Given the description of an element on the screen output the (x, y) to click on. 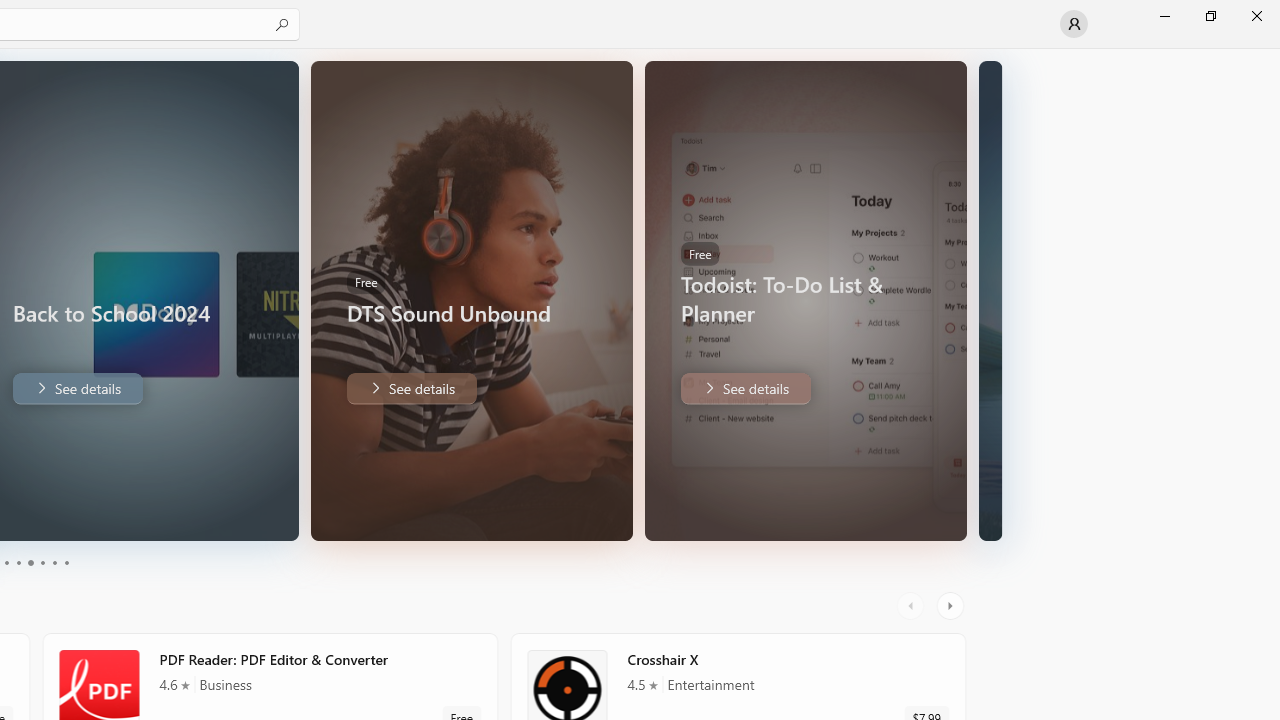
Page 4 (41, 562)
Page 3 (29, 562)
Page 1 (5, 562)
Page 5 (54, 562)
DTS Sound Unbound. Save 30% now. Free . See details (410, 387)
Pager (35, 562)
Close Microsoft Store (1256, 15)
AutomationID: LeftScrollButton (913, 606)
User profile (1073, 24)
Page 2 (17, 562)
AutomationID: RightScrollButton (952, 606)
Restore Microsoft Store (1210, 15)
Page 6 (65, 562)
